Given the description of an element on the screen output the (x, y) to click on. 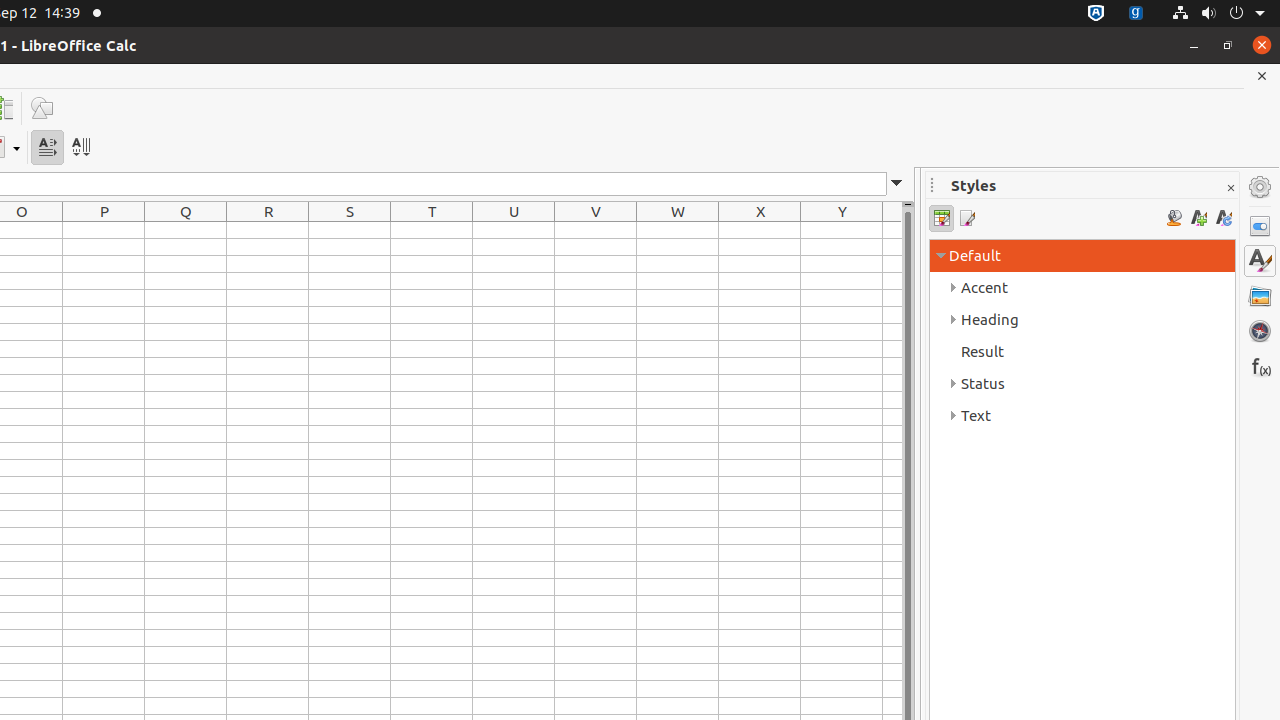
U1 Element type: table-cell (514, 230)
Text direction from left to right Element type: toggle-button (47, 147)
Functions Element type: radio-button (1260, 366)
Navigator Element type: radio-button (1260, 331)
Update Style Element type: push-button (1223, 218)
